Given the description of an element on the screen output the (x, y) to click on. 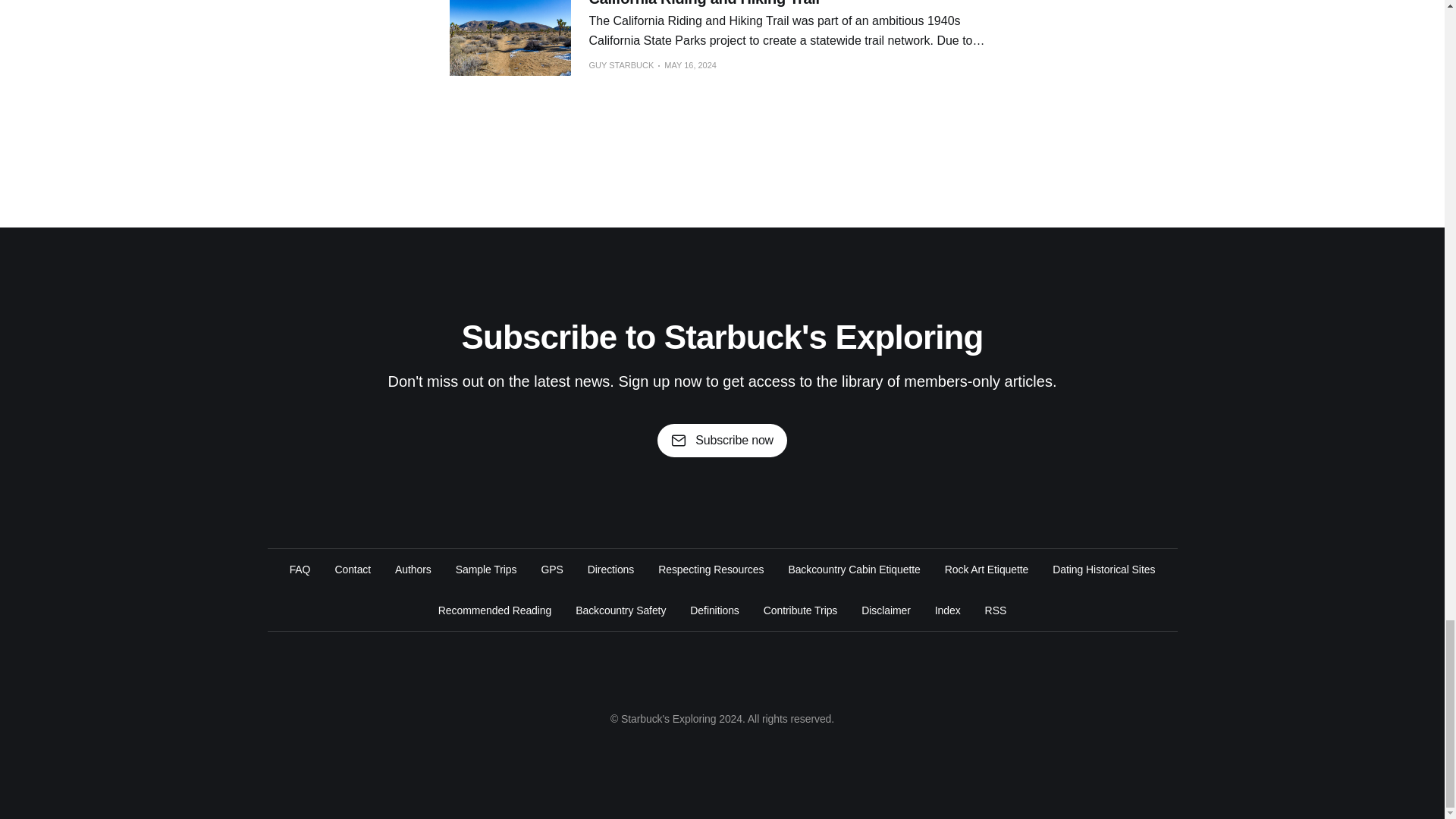
Dating Historical Sites (1103, 569)
Sample Trips (485, 569)
Directions (610, 569)
Definitions (714, 610)
Authors (412, 569)
Subscribe now (722, 440)
Contribute Trips (799, 610)
Index (947, 610)
GPS (551, 569)
Contact (352, 569)
FAQ (300, 569)
Recommended Reading (494, 610)
Backcountry Cabin Etiquette (853, 569)
Respecting Resources (710, 569)
